Given the description of an element on the screen output the (x, y) to click on. 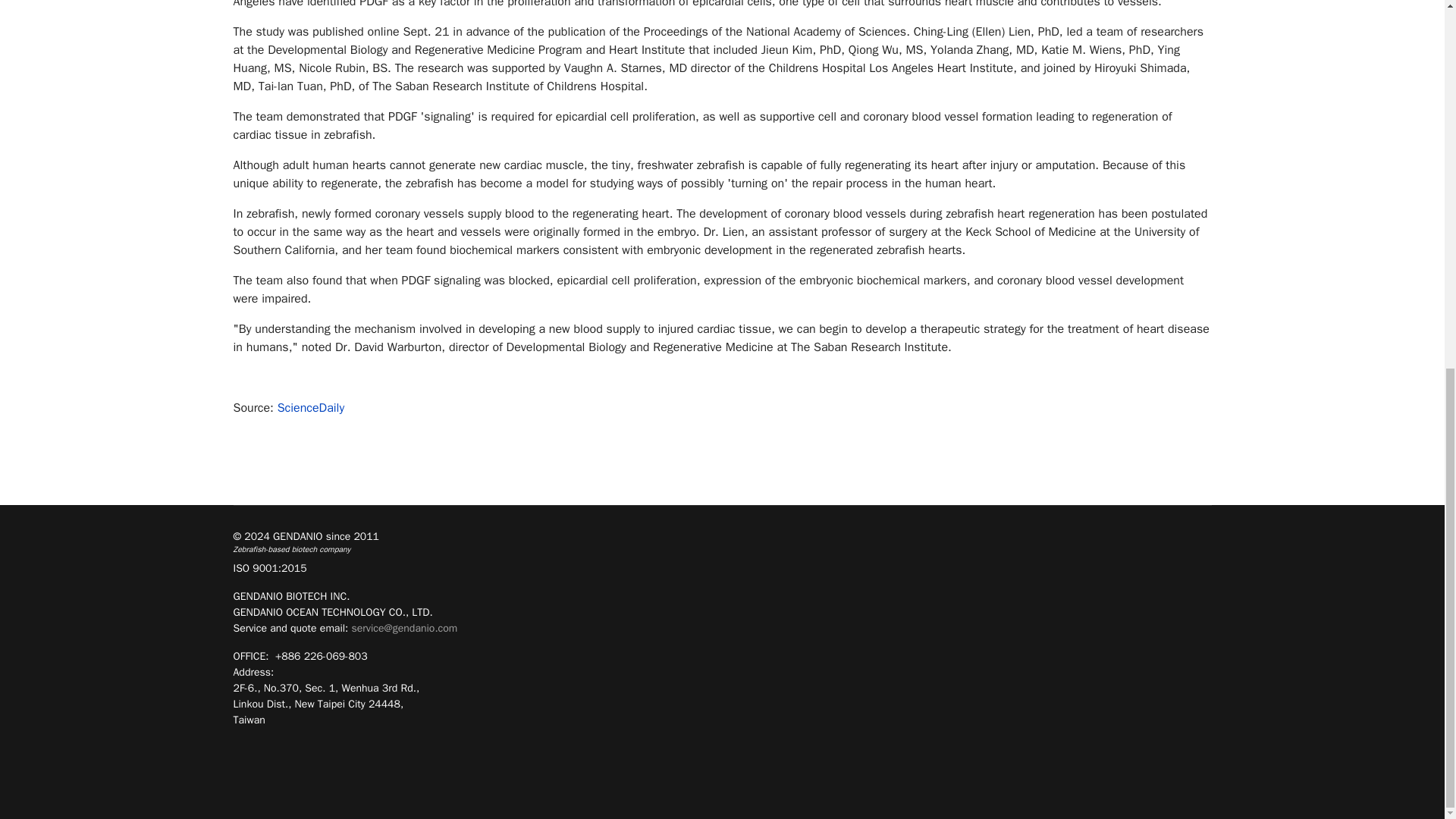
ScienceDaily (311, 407)
